Given the description of an element on the screen output the (x, y) to click on. 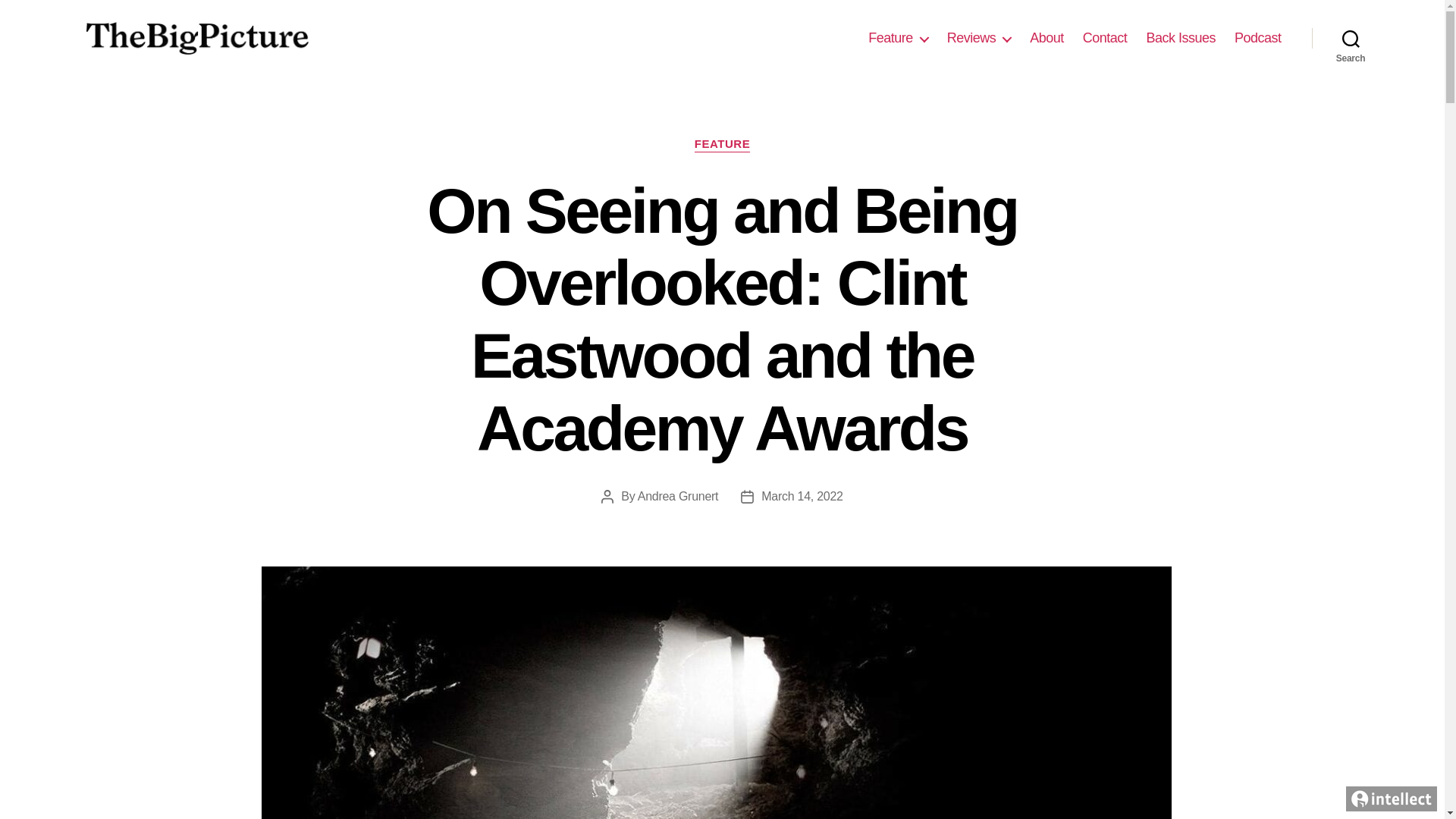
Podcast (1257, 38)
Feature (897, 38)
Reviews (979, 38)
Search (1350, 37)
Back Issues (1180, 38)
About (1046, 38)
Contact (1104, 38)
